Given the description of an element on the screen output the (x, y) to click on. 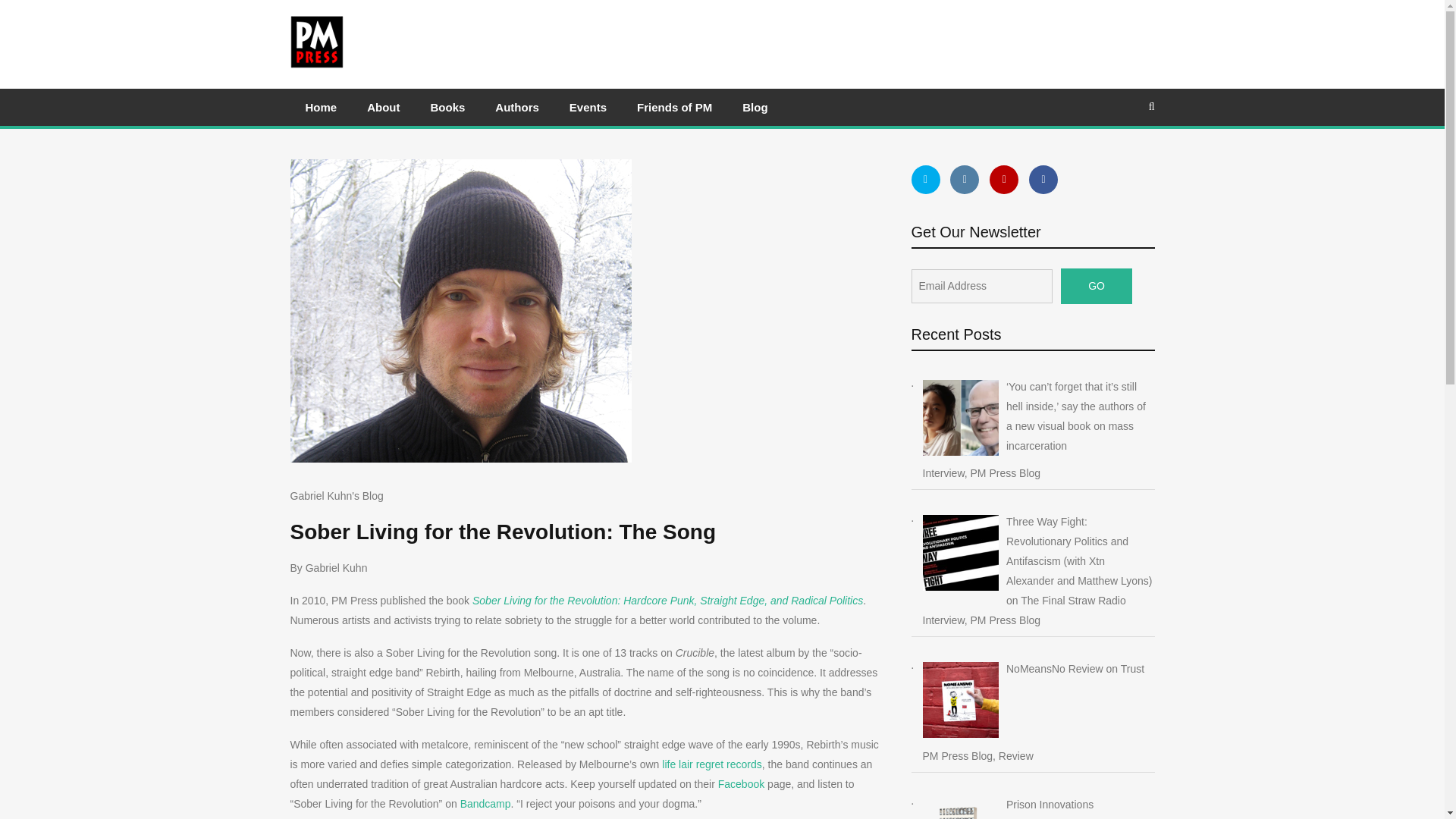
Events (587, 107)
Home (320, 107)
Gabriel Kuhn's Blog (335, 495)
About (383, 107)
Authors (517, 107)
Books (447, 107)
life lair regret records (711, 764)
Bandcamp (485, 803)
Blog (754, 107)
Facebook (739, 784)
Friends of PM (673, 107)
GO (1096, 285)
